Given the description of an element on the screen output the (x, y) to click on. 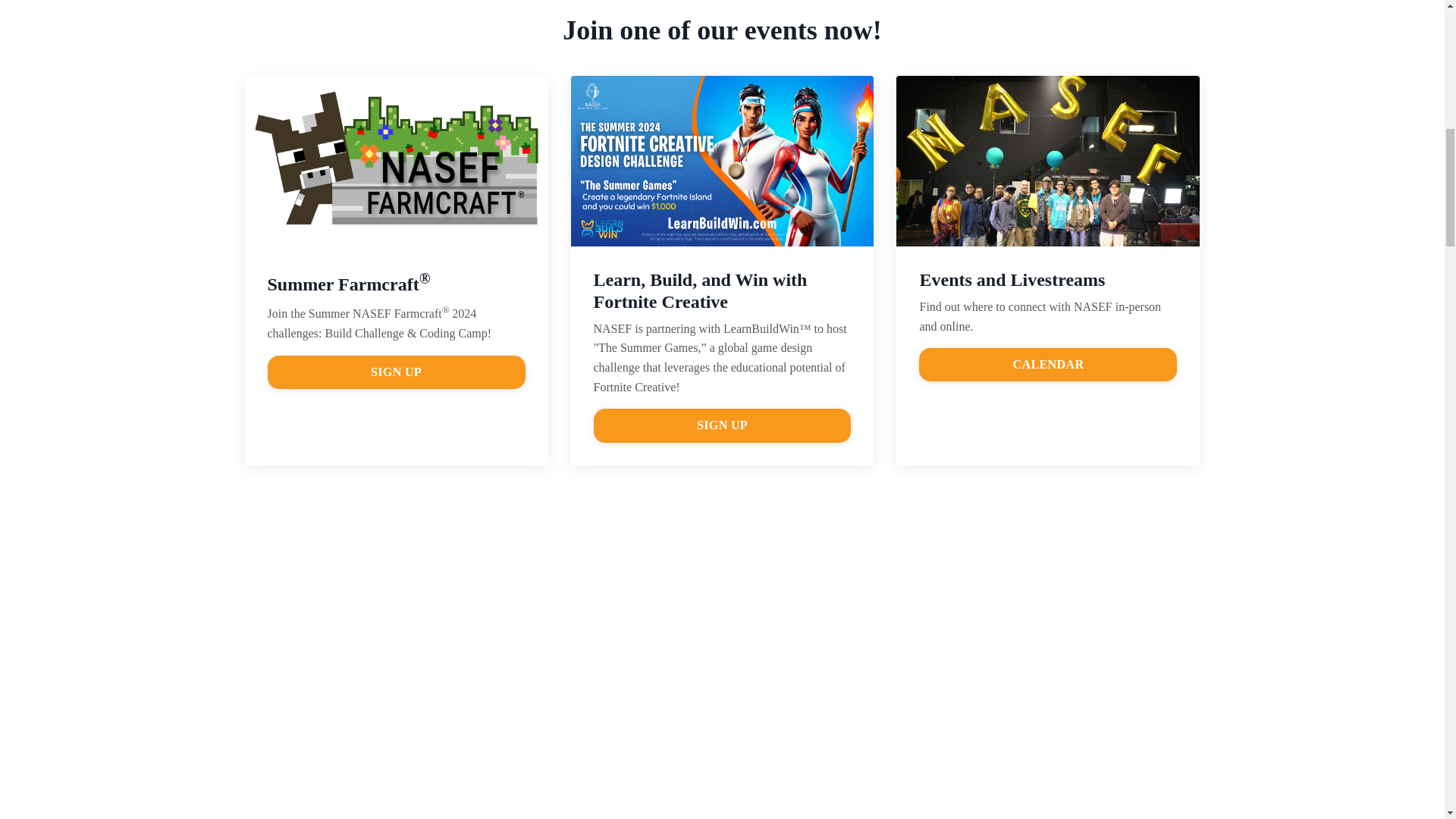
CALENDAR (1047, 364)
SIGN UP (721, 425)
SIGN UP (396, 372)
